Given the description of an element on the screen output the (x, y) to click on. 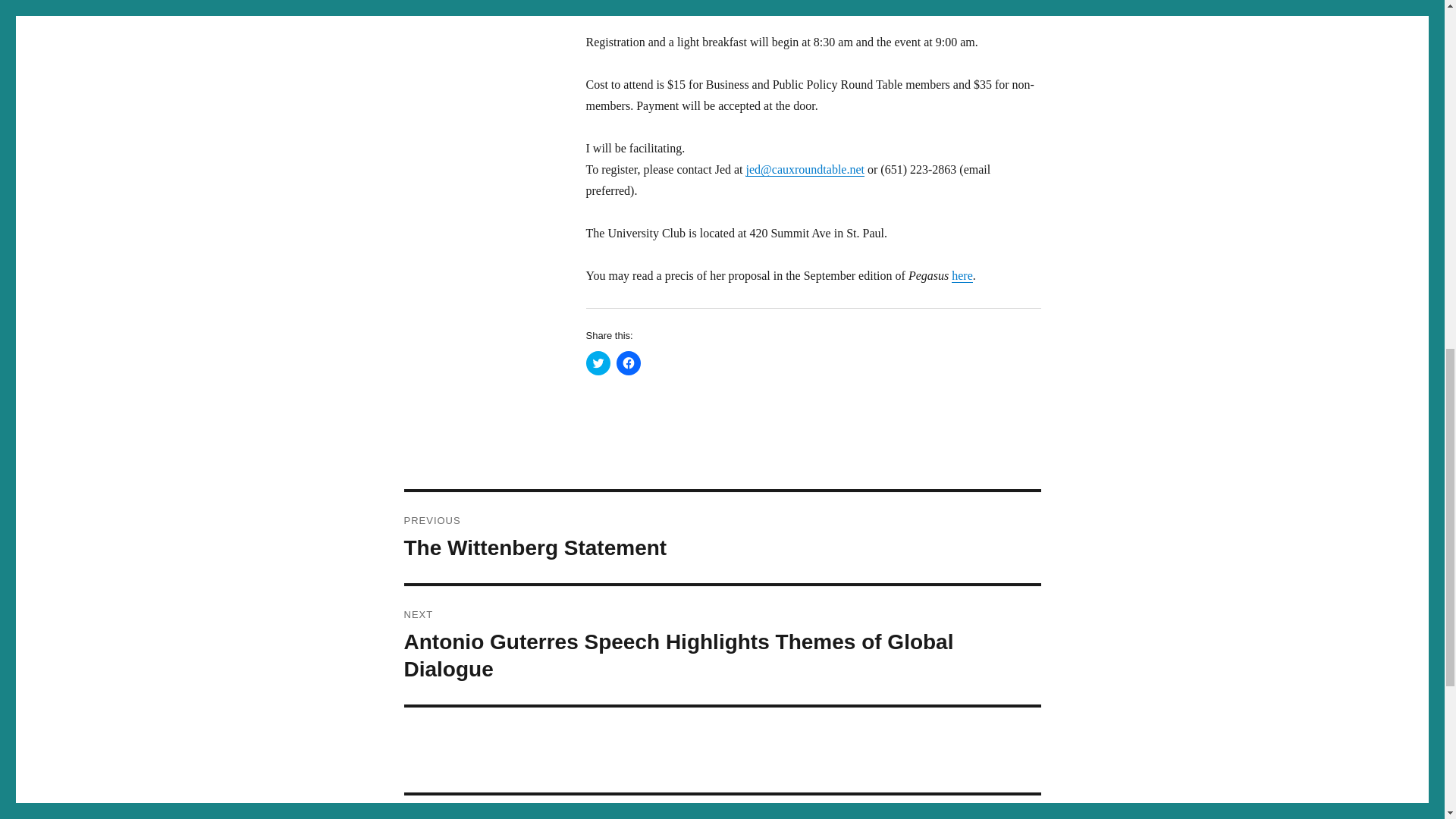
here (962, 275)
Click to share on Facebook (722, 537)
Click to share on Twitter (627, 363)
